Given the description of an element on the screen output the (x, y) to click on. 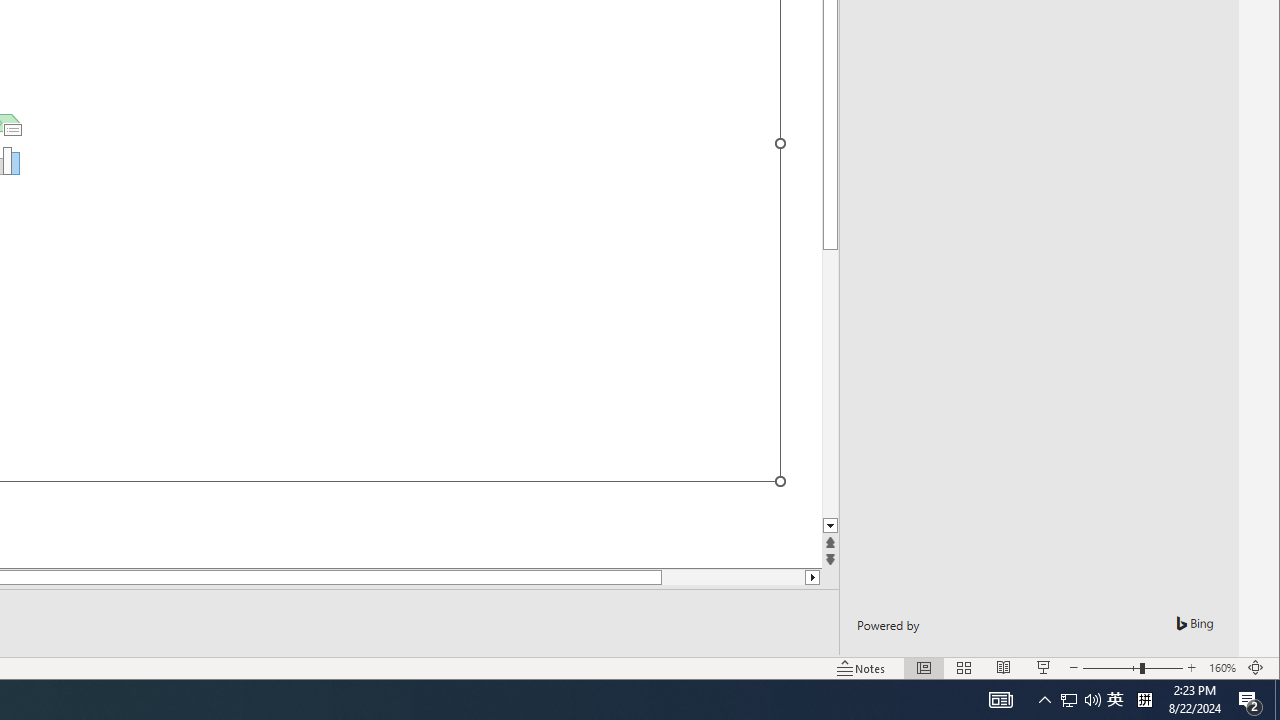
Zoom 160% (1222, 668)
